Given the description of an element on the screen output the (x, y) to click on. 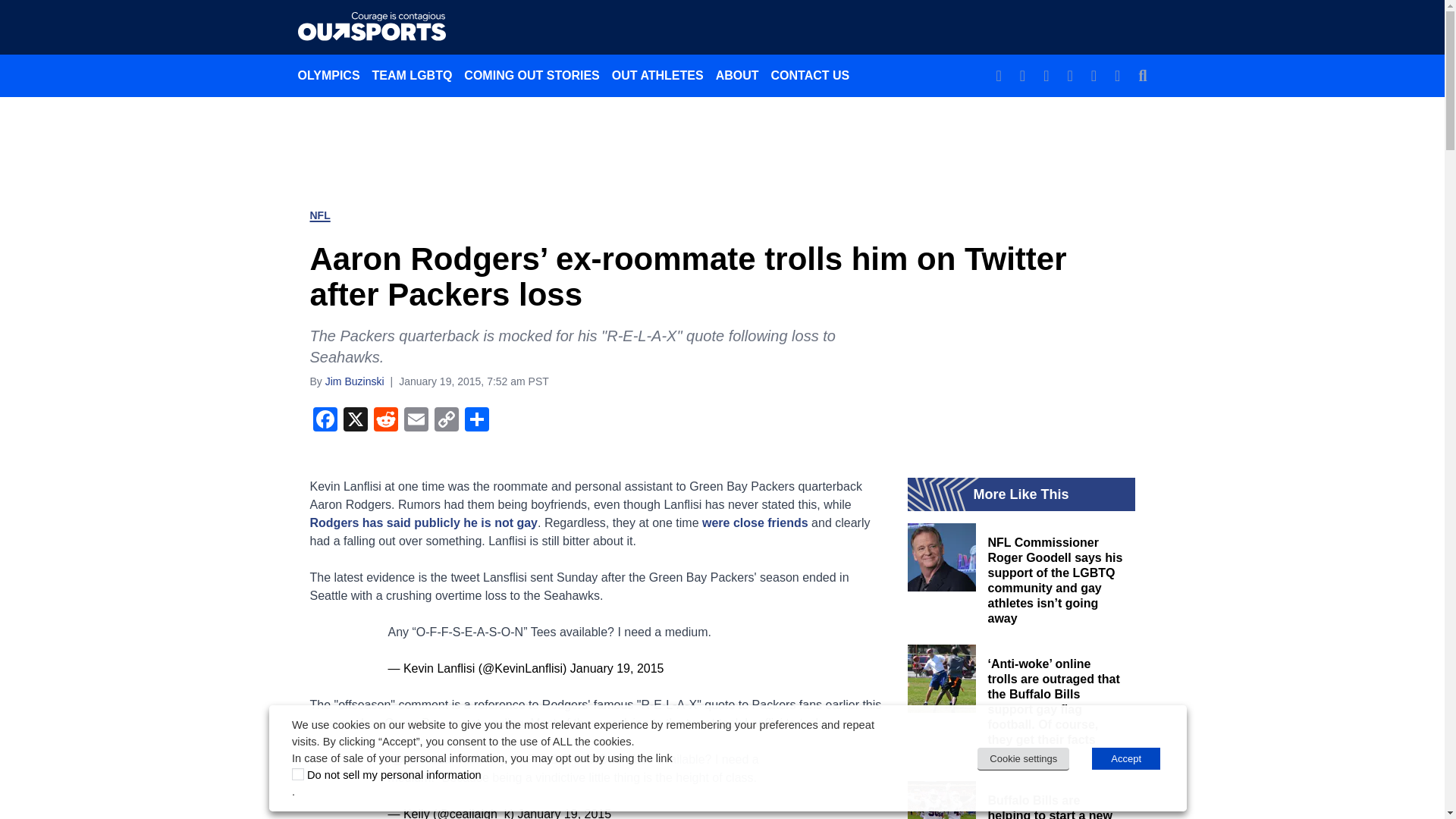
COMING OUT STORIES (531, 75)
ABOUT (737, 75)
X (354, 420)
Email (415, 420)
Reddit (384, 420)
Facebook (323, 420)
CONTACT US (810, 75)
OUT ATHLETES (657, 75)
Rodgers has said publicly he is not gay (422, 521)
TEAM LGBTQ (412, 75)
Reddit (384, 420)
X (354, 420)
NFL (319, 215)
OLYMPICS (328, 75)
Facebook (323, 420)
